Given the description of an element on the screen output the (x, y) to click on. 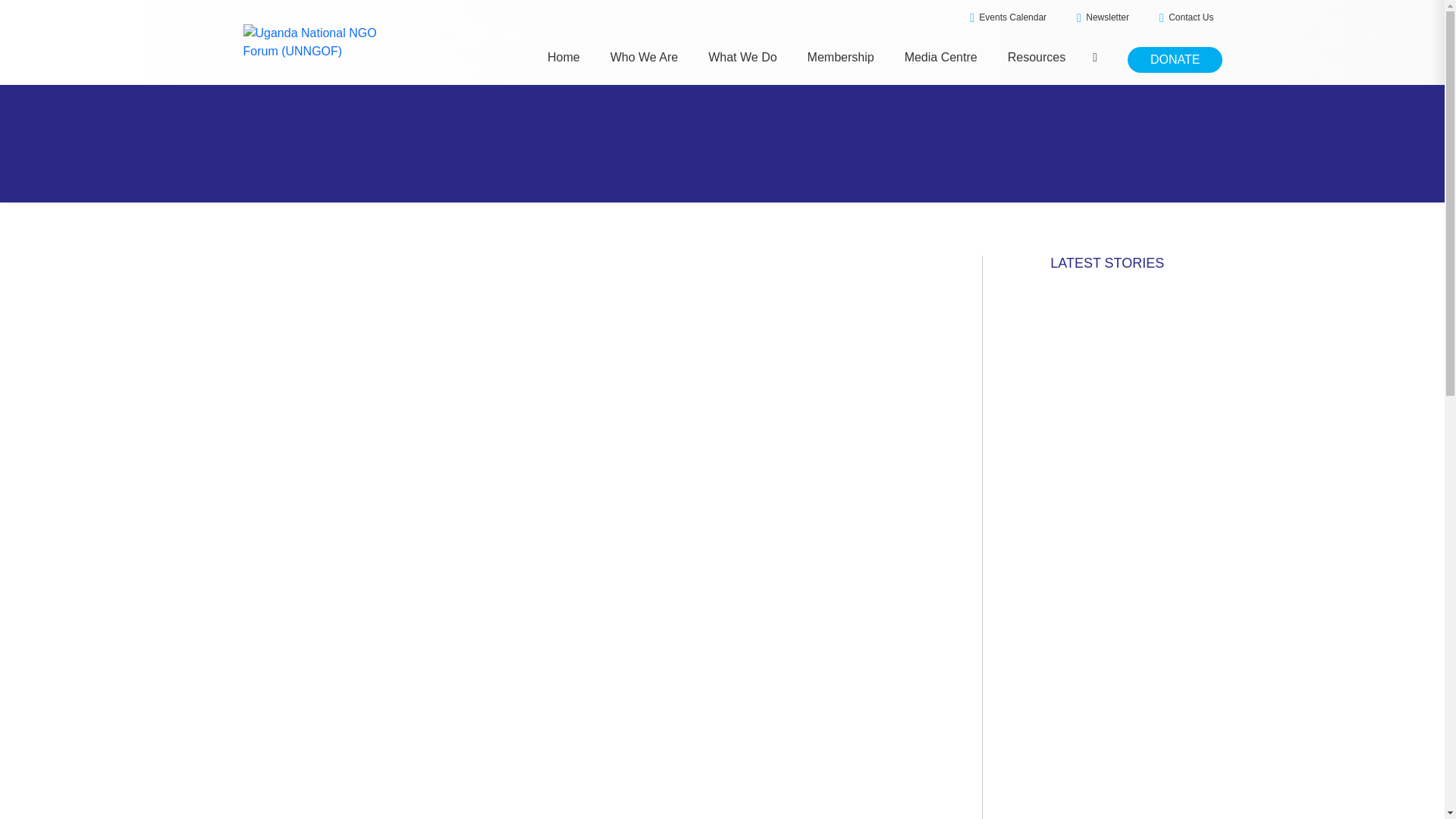
Resources (1036, 56)
Home (563, 56)
Newsletter (1103, 17)
Membership (841, 56)
Events Calendar (1007, 17)
Contact Us (1186, 17)
Media Centre (940, 56)
Who We Are (644, 56)
What We Do (741, 56)
